Given the description of an element on the screen output the (x, y) to click on. 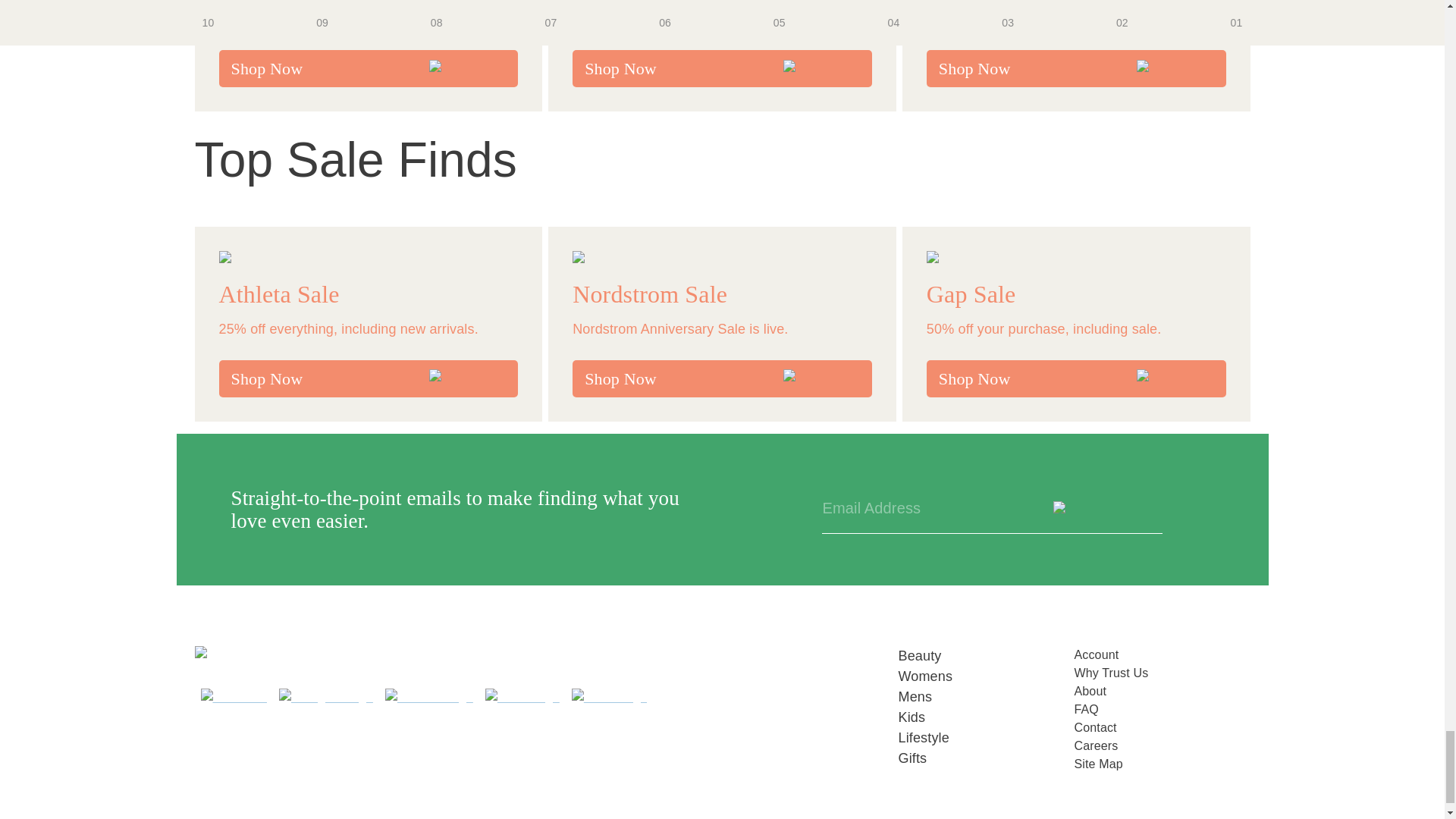
How We Rank Products (1161, 673)
Beauty Product Reviews (986, 656)
Kids Product Reviews (986, 717)
Mens Product Reviews (986, 697)
Gifts Product Reviews (986, 758)
Womens Product Reviews (986, 676)
Lifestyle Product Reviews (986, 738)
